Given the description of an element on the screen output the (x, y) to click on. 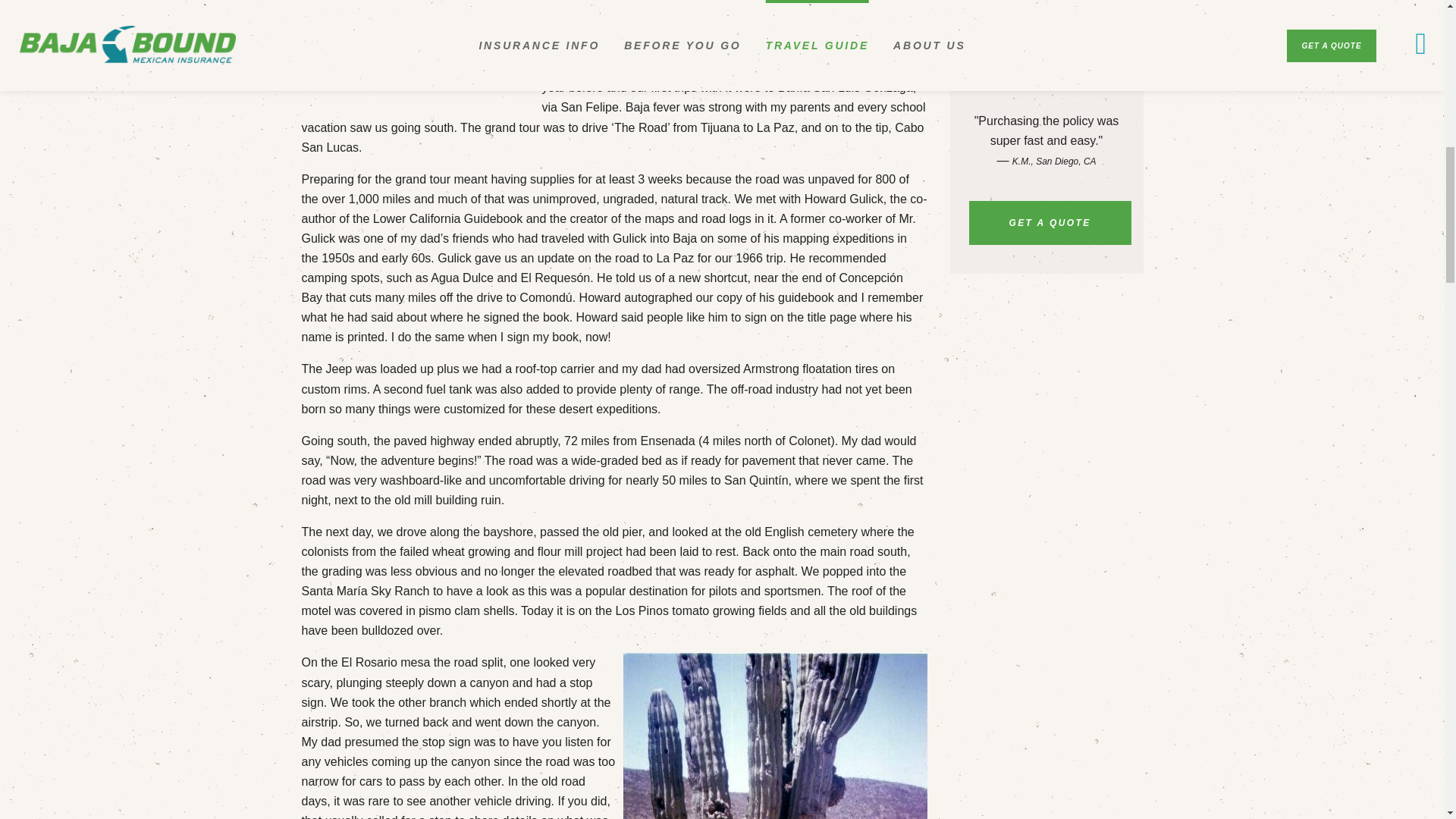
GET A QUOTE (1050, 222)
